Given the description of an element on the screen output the (x, y) to click on. 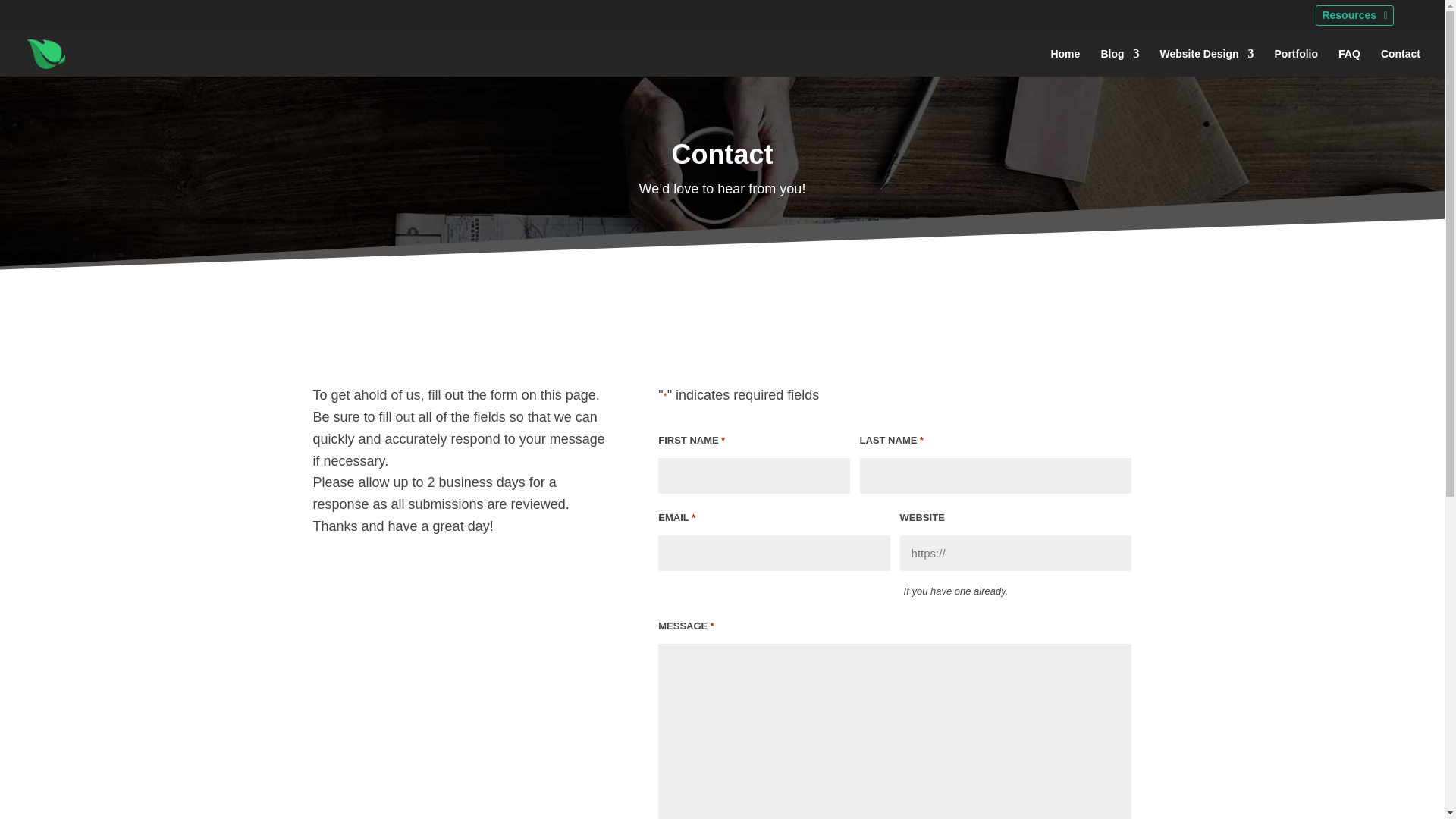
Website Design (1206, 62)
Contact (1400, 62)
Blog (1119, 62)
Portfolio (1297, 62)
Resources (1354, 14)
Home (1064, 62)
